Given the description of an element on the screen output the (x, y) to click on. 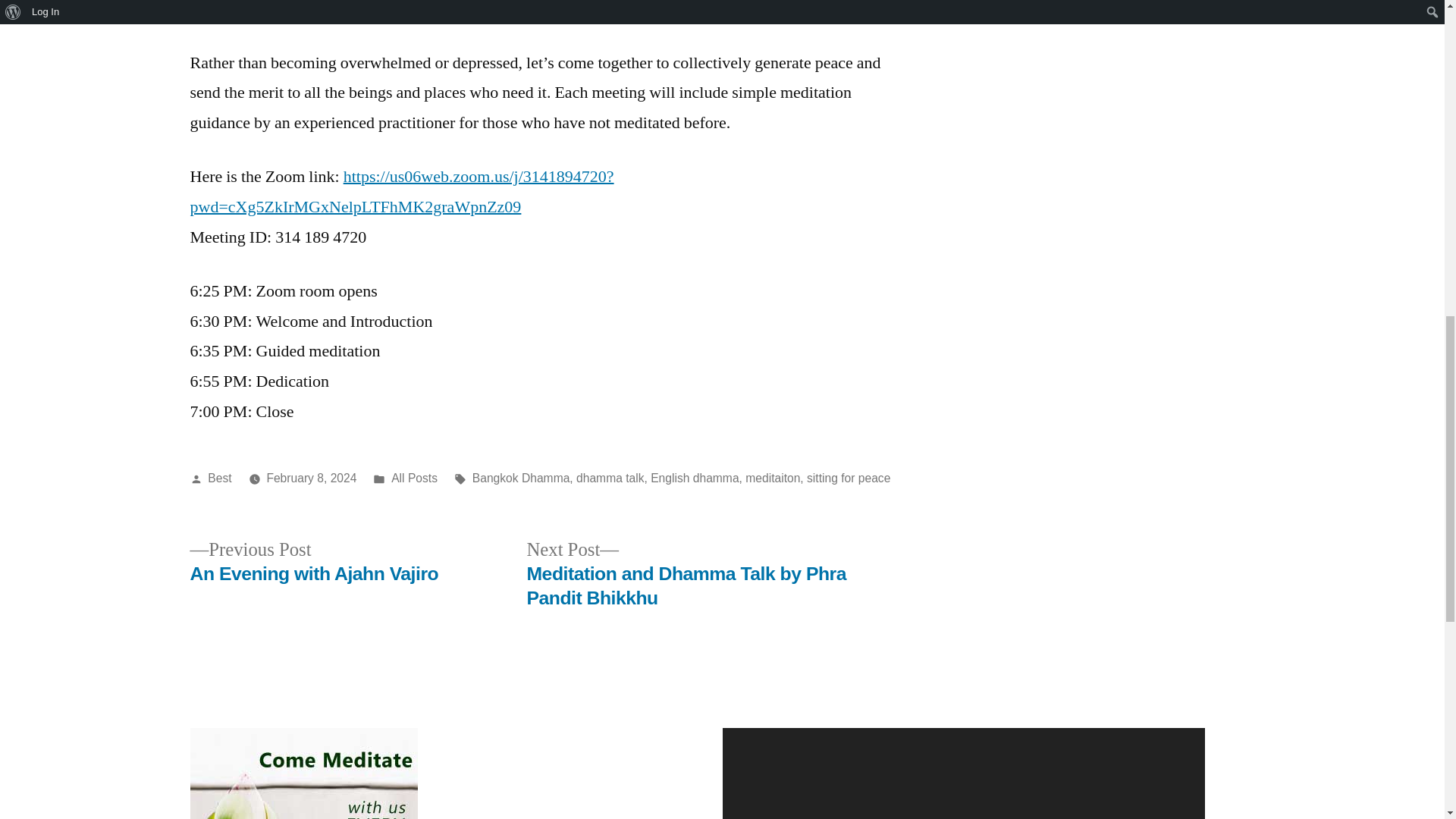
Bangkok Dhamma (520, 477)
sitting for peace (847, 477)
All Posts (414, 477)
meditaiton (772, 477)
English dhamma (694, 477)
Best (219, 477)
February 8, 2024 (311, 477)
dhamma talk (313, 562)
